Given the description of an element on the screen output the (x, y) to click on. 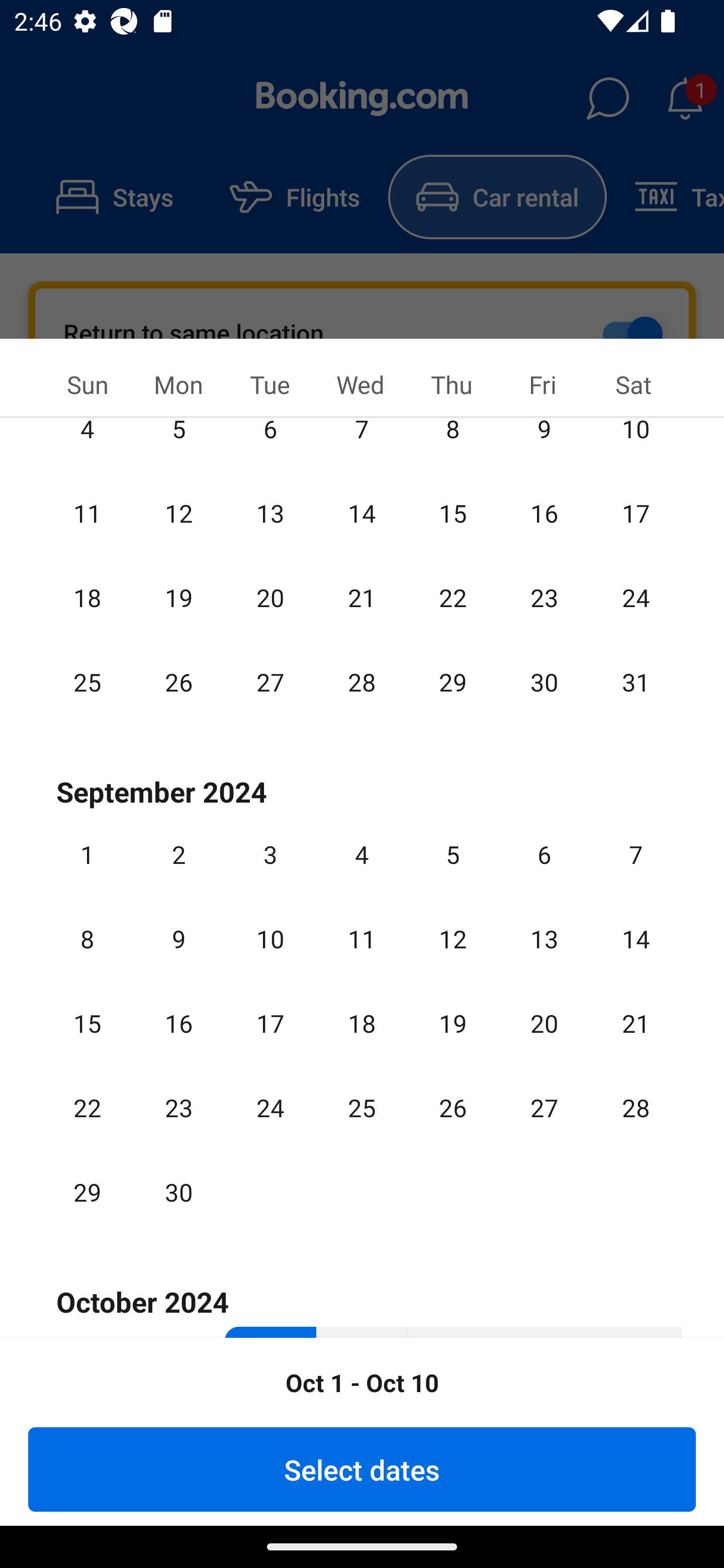
Select dates (361, 1468)
